Given the description of an element on the screen output the (x, y) to click on. 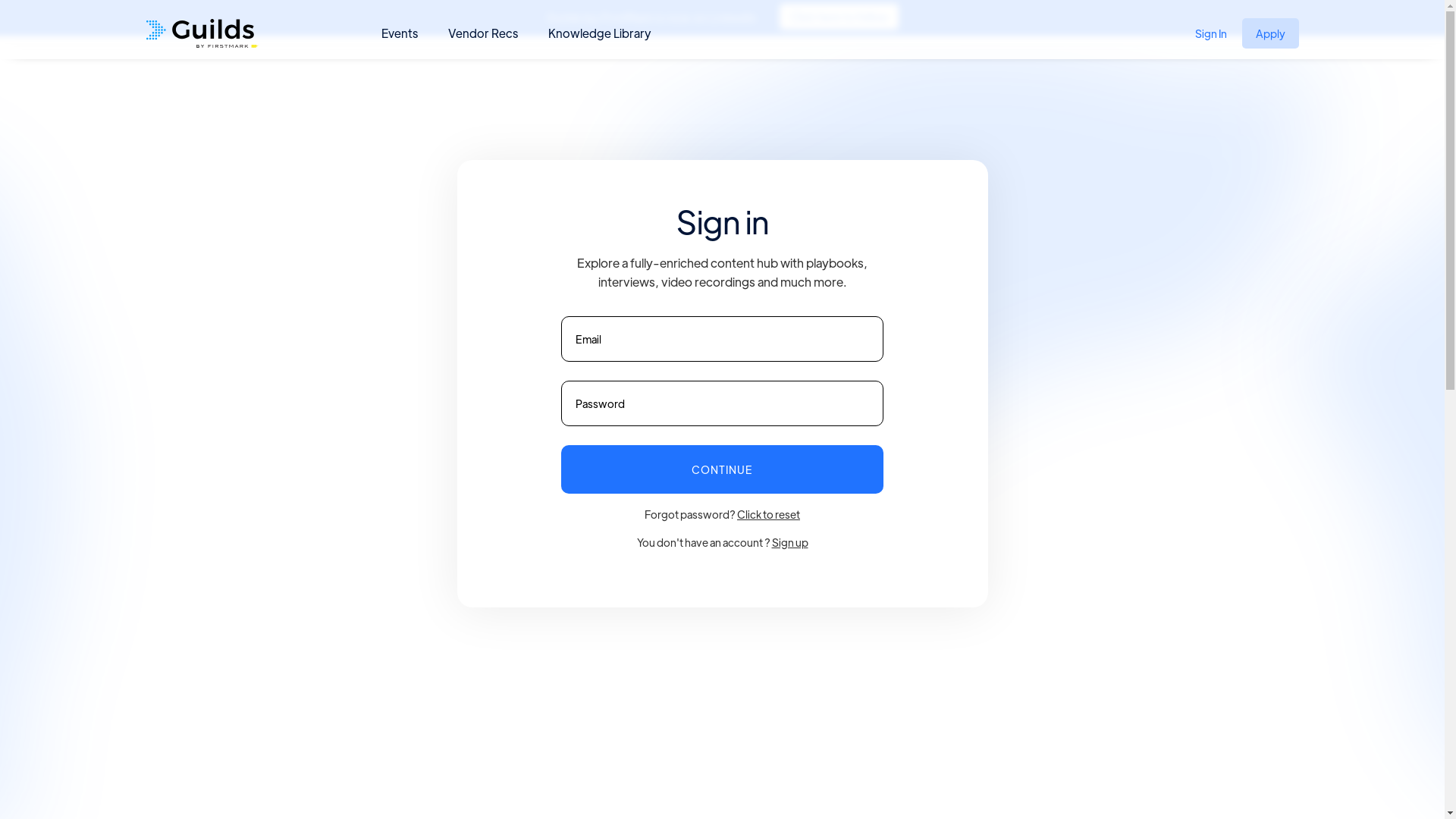
Click here to follow Element type: text (838, 16)
Click to reset Element type: text (768, 513)
Knowledge Library Element type: text (598, 33)
Sign up Element type: text (789, 542)
Apply Element type: text (1270, 33)
Continue Element type: text (722, 469)
Vendor Recs Element type: text (482, 33)
Events Element type: text (398, 33)
Sign In Element type: text (1210, 32)
